Given the description of an element on the screen output the (x, y) to click on. 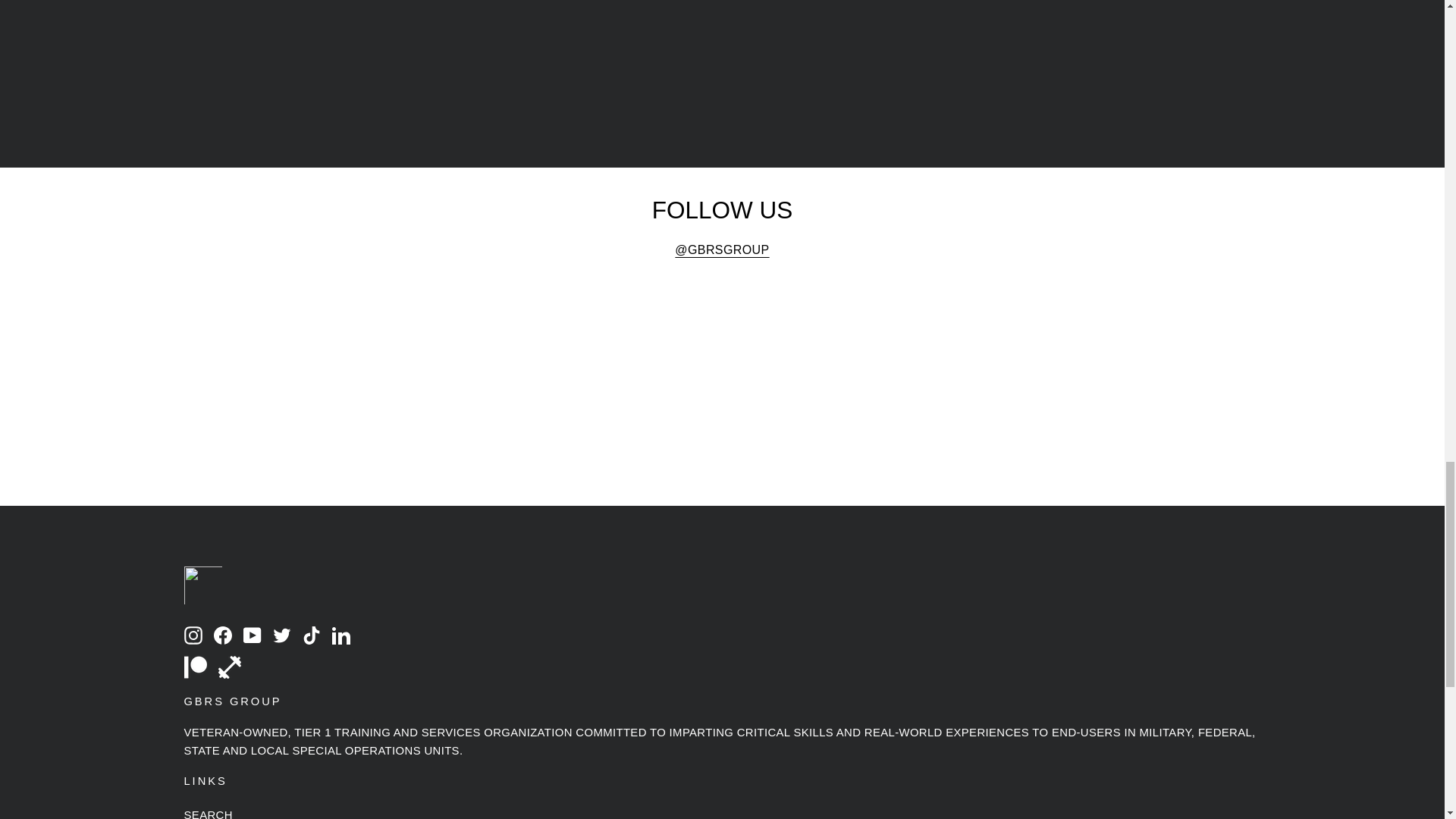
GBRS Group on Twitter (282, 634)
GBRS Group on TikTok (310, 634)
GBRS Group on Patreon (194, 667)
GBRS Group on LinkedIn (340, 634)
GBRS Group on YouTube (251, 634)
GBRS Group on Instagram (192, 634)
GBRS Group on Facebook (222, 634)
